Given the description of an element on the screen output the (x, y) to click on. 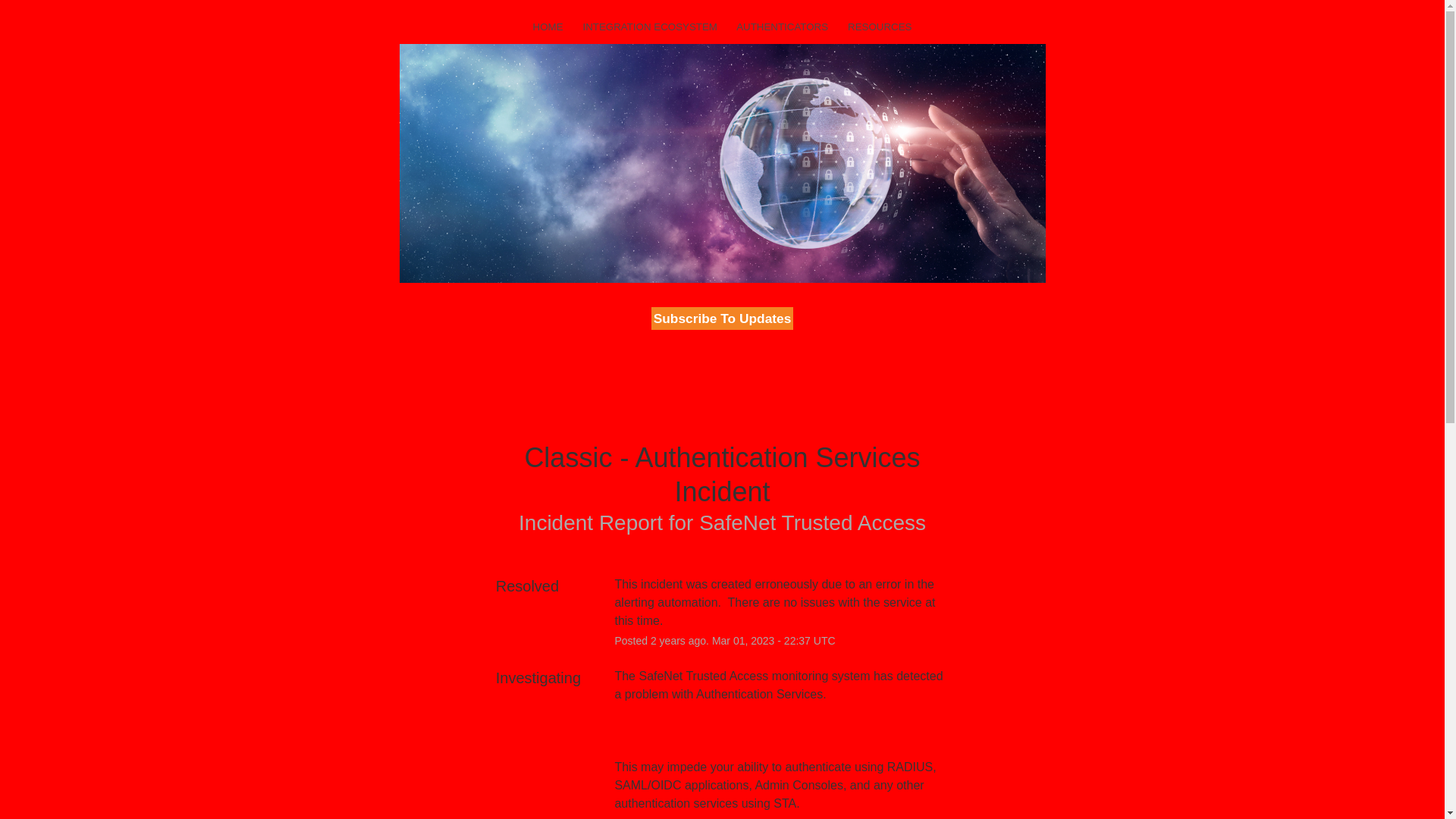
SafeNet Trusted Access (812, 522)
HOME (547, 26)
RESOURCES (879, 26)
INTEGRATION ECOSYSTEM (649, 26)
AUTHENTICATORS (782, 26)
